Given the description of an element on the screen output the (x, y) to click on. 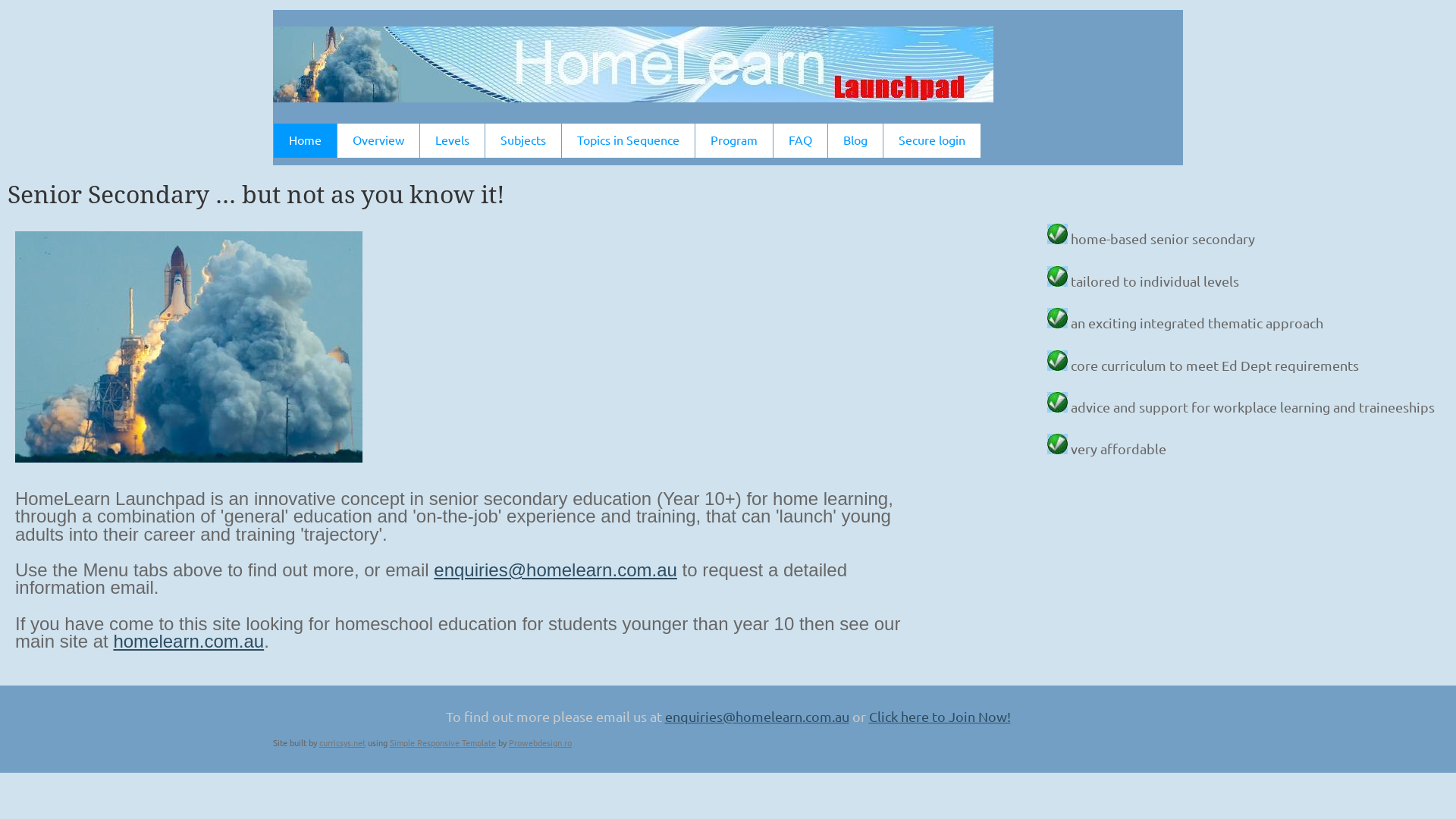
Simple Responsive Template Element type: text (442, 742)
FAQ Element type: text (800, 140)
Program Element type: text (733, 140)
enquiries@homelearn.com.au Element type: text (555, 569)
curricsys.net Element type: text (342, 742)
Subjects Element type: text (523, 140)
homelearn.com.au Element type: text (187, 640)
Topics in Sequence Element type: text (627, 140)
Overview Element type: text (378, 140)
Secure login Element type: text (931, 140)
Click here to Join Now! Element type: text (939, 716)
enquiries@homelearn.com.au Element type: text (756, 716)
Prowebdesign.ro Element type: text (539, 742)
Levels Element type: text (452, 140)
Home Element type: text (304, 140)
Blog Element type: text (855, 140)
